Given the description of an element on the screen output the (x, y) to click on. 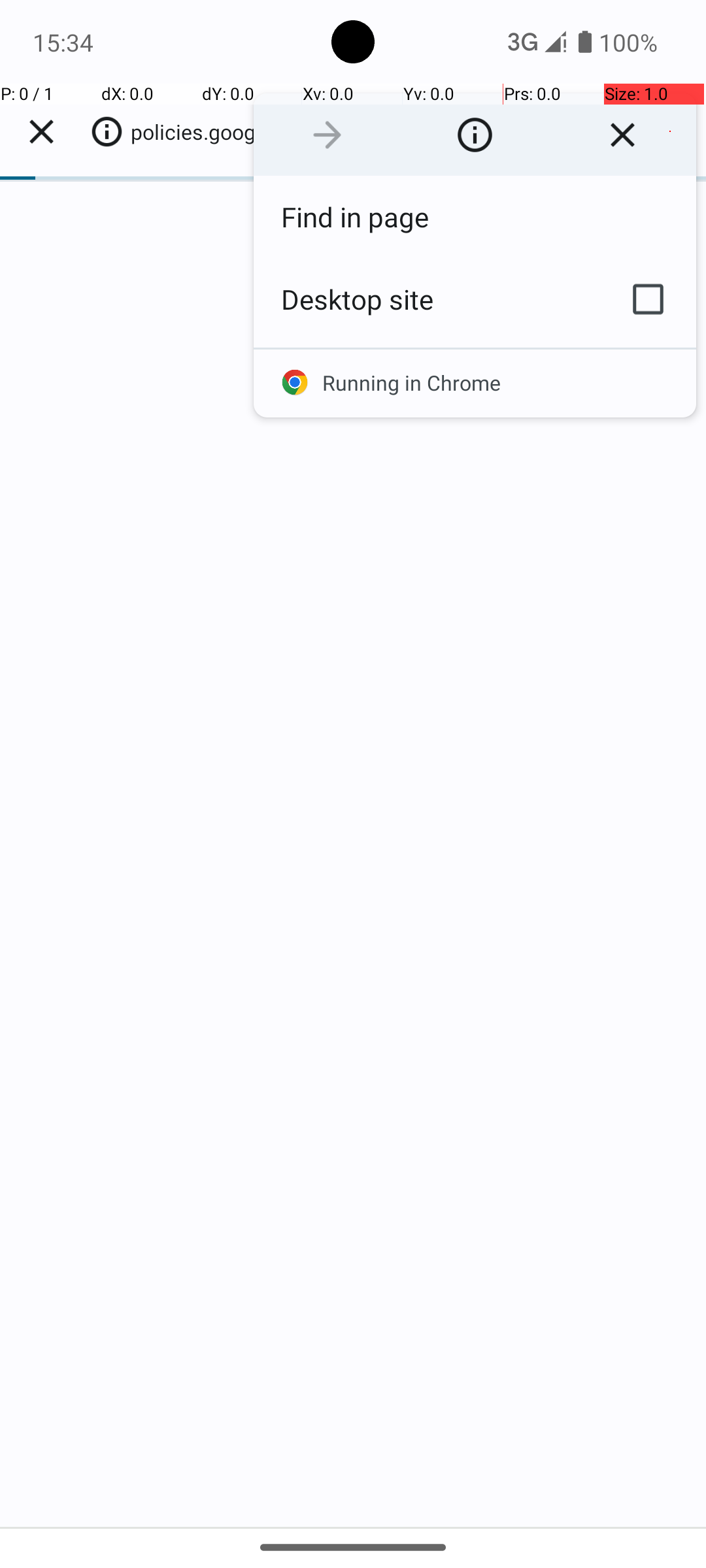
Running in Chrome Element type: android.widget.TextView (474, 382)
Go forward Element type: android.widget.ImageButton (326, 134)
View site information Element type: android.widget.ImageButton (474, 134)
Stop refreshing Element type: android.widget.ImageButton (622, 134)
Find in page Element type: android.widget.TextView (474, 216)
Desktop site Element type: android.widget.TextView (426, 299)
